Given the description of an element on the screen output the (x, y) to click on. 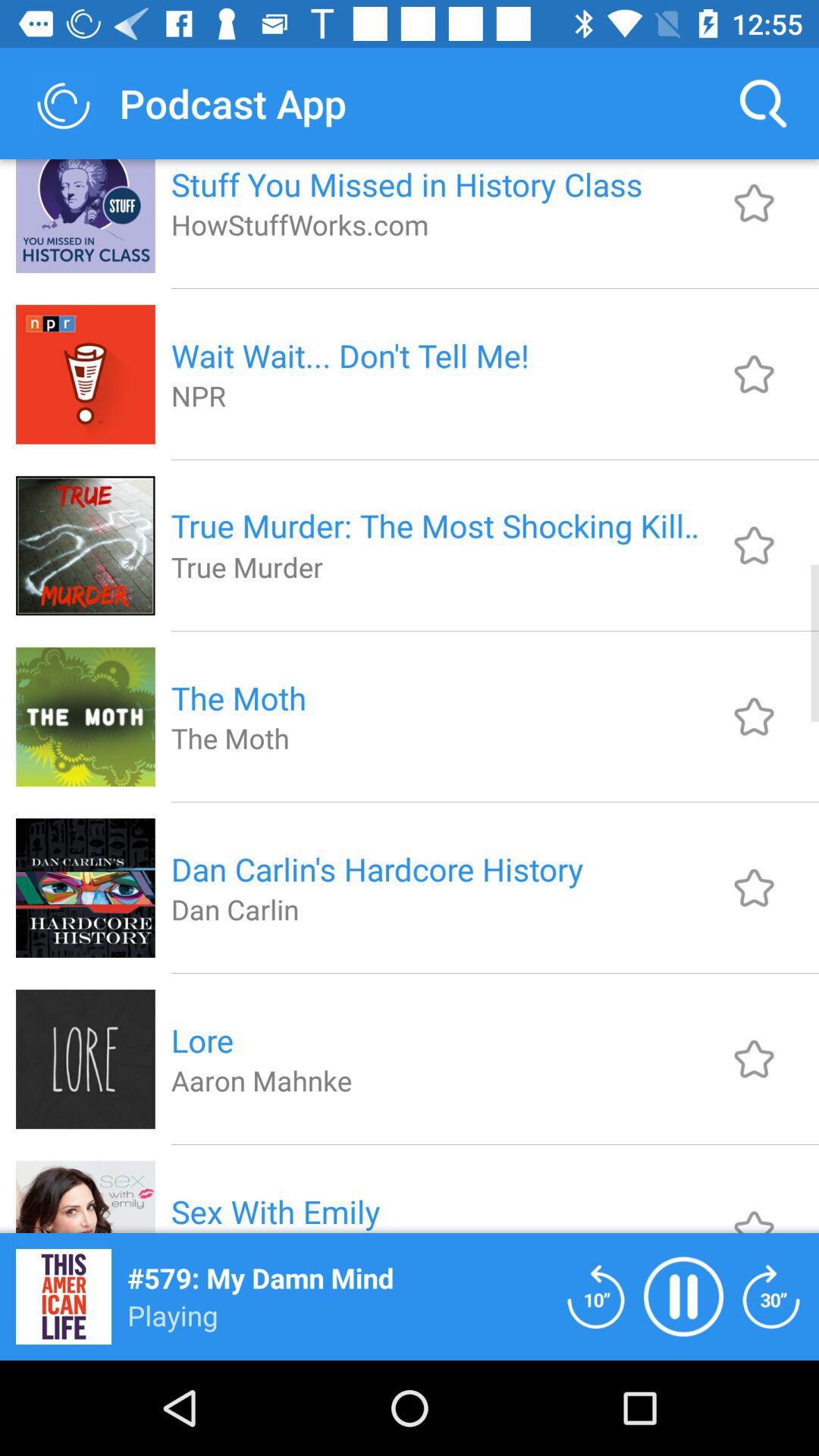
star this podcast (754, 374)
